Given the description of an element on the screen output the (x, y) to click on. 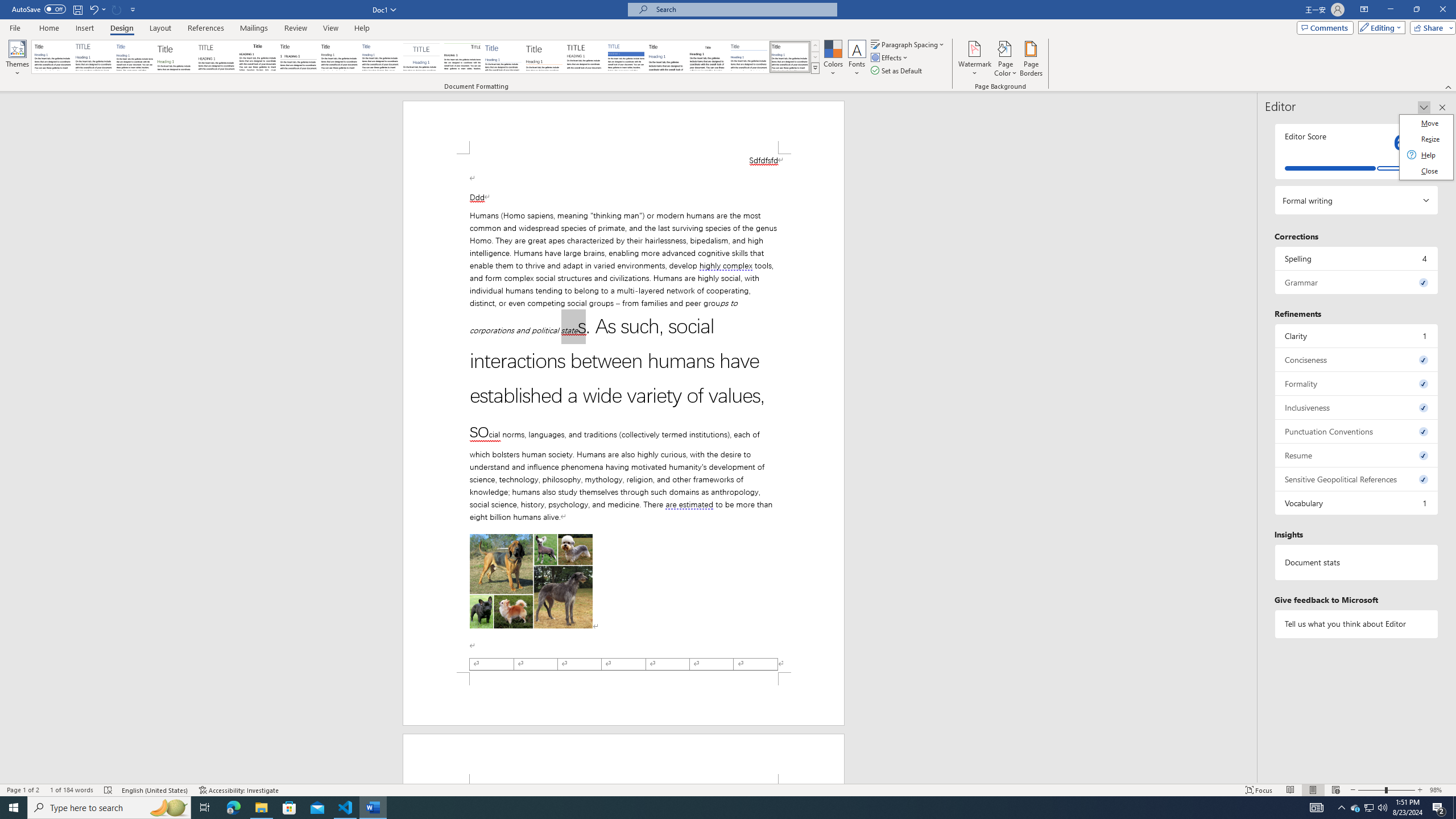
Conciseness, 0 issues. Press space or enter to review items. (1356, 359)
Colors (832, 58)
Running applications (717, 807)
Basic (Elegant) (93, 56)
